Given the description of an element on the screen output the (x, y) to click on. 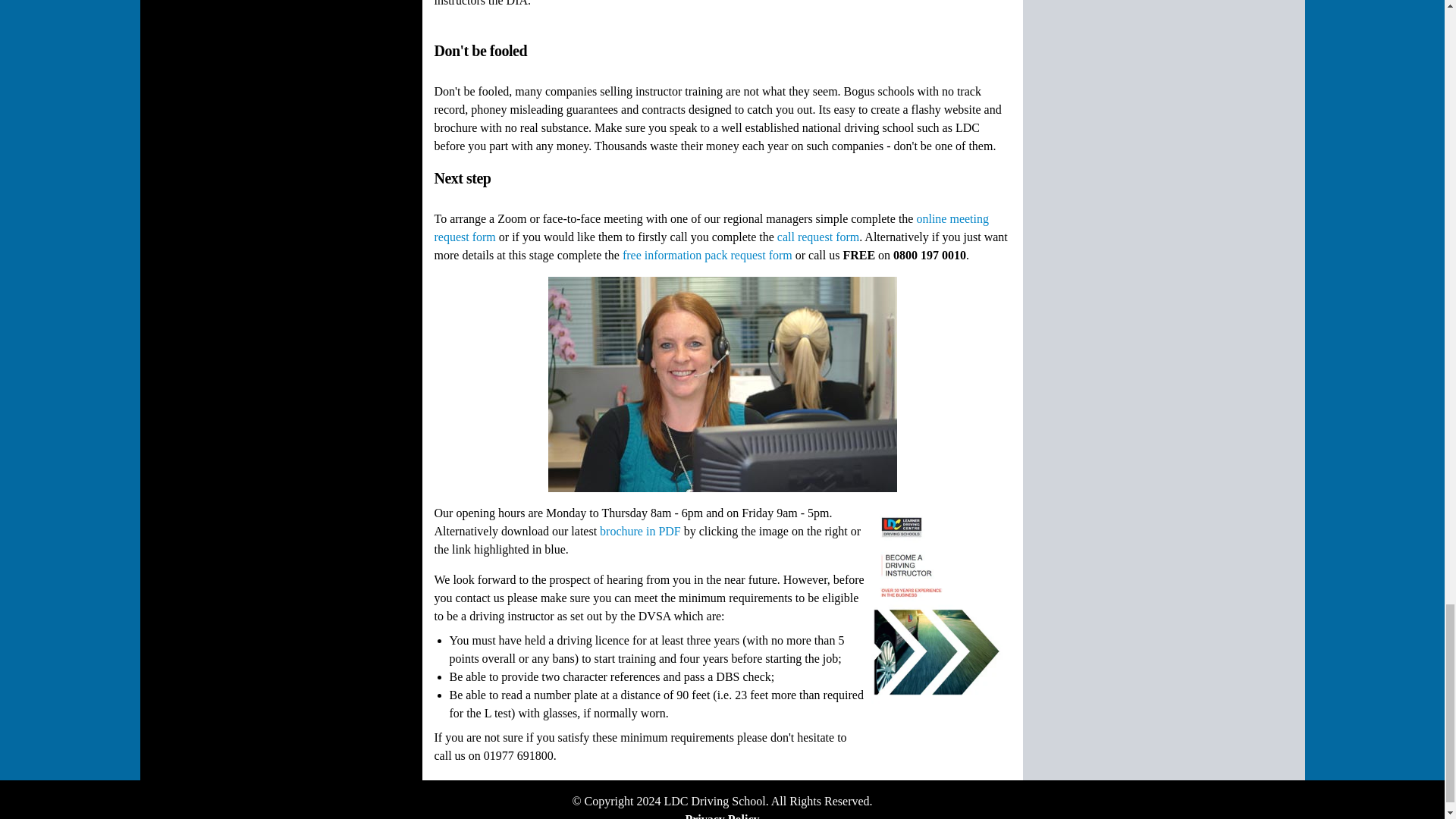
Learner Driving Centres (714, 800)
Privacy Policy (721, 816)
call request form (818, 236)
free information pack request form (707, 254)
LDC Driving Instructor Training Brochure (640, 530)
online meeting request form (710, 227)
